Given the description of an element on the screen output the (x, y) to click on. 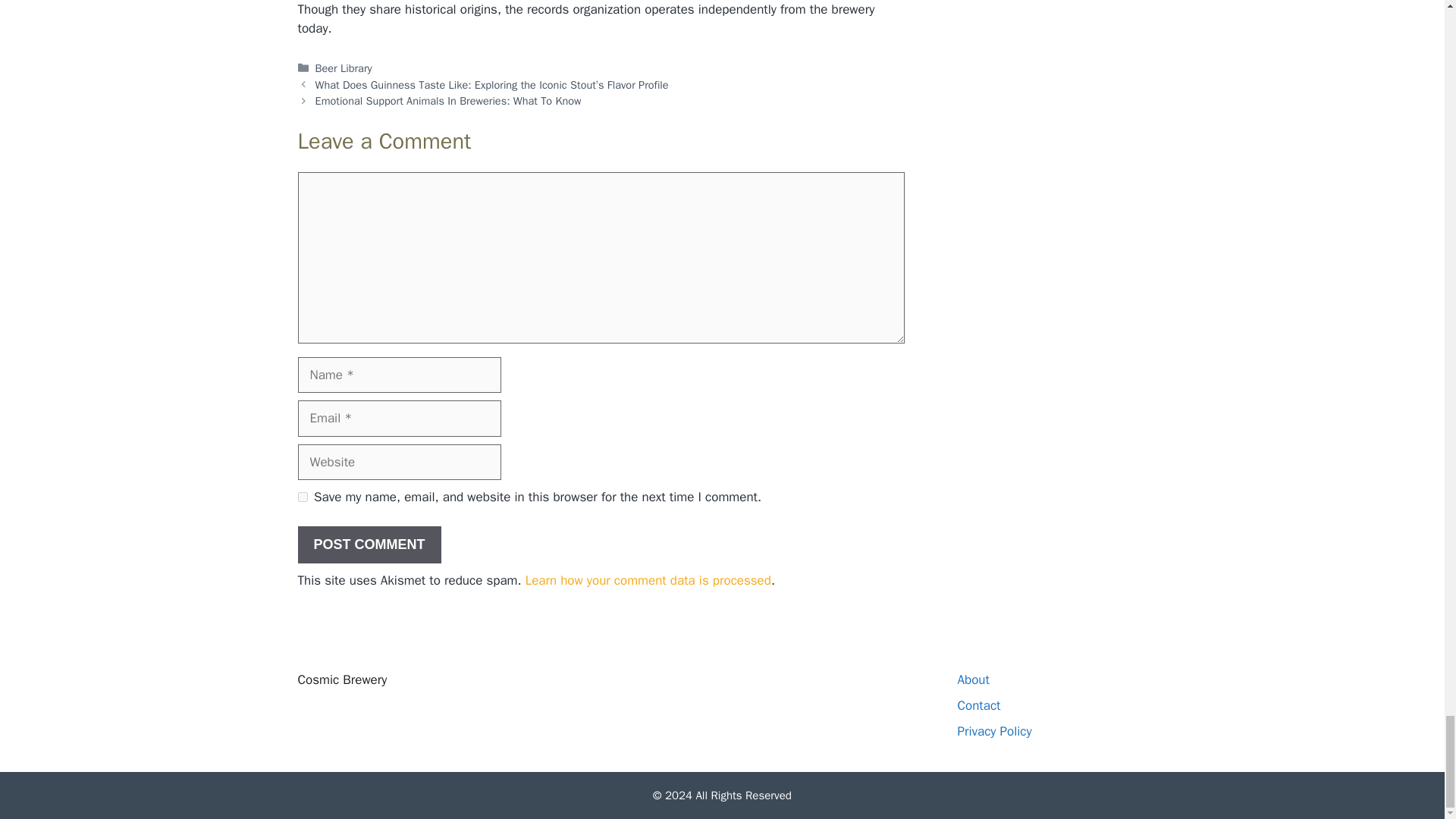
Post Comment (369, 544)
yes (302, 497)
Beer Library (343, 68)
Emotional Support Animals In Breweries: What To Know (447, 100)
Post Comment (369, 544)
